Given the description of an element on the screen output the (x, y) to click on. 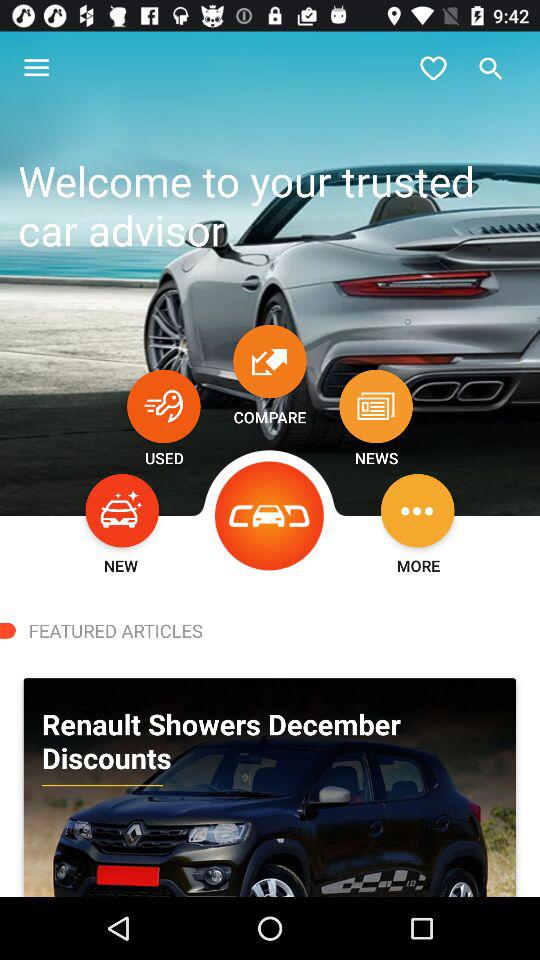
read news (375, 406)
